Given the description of an element on the screen output the (x, y) to click on. 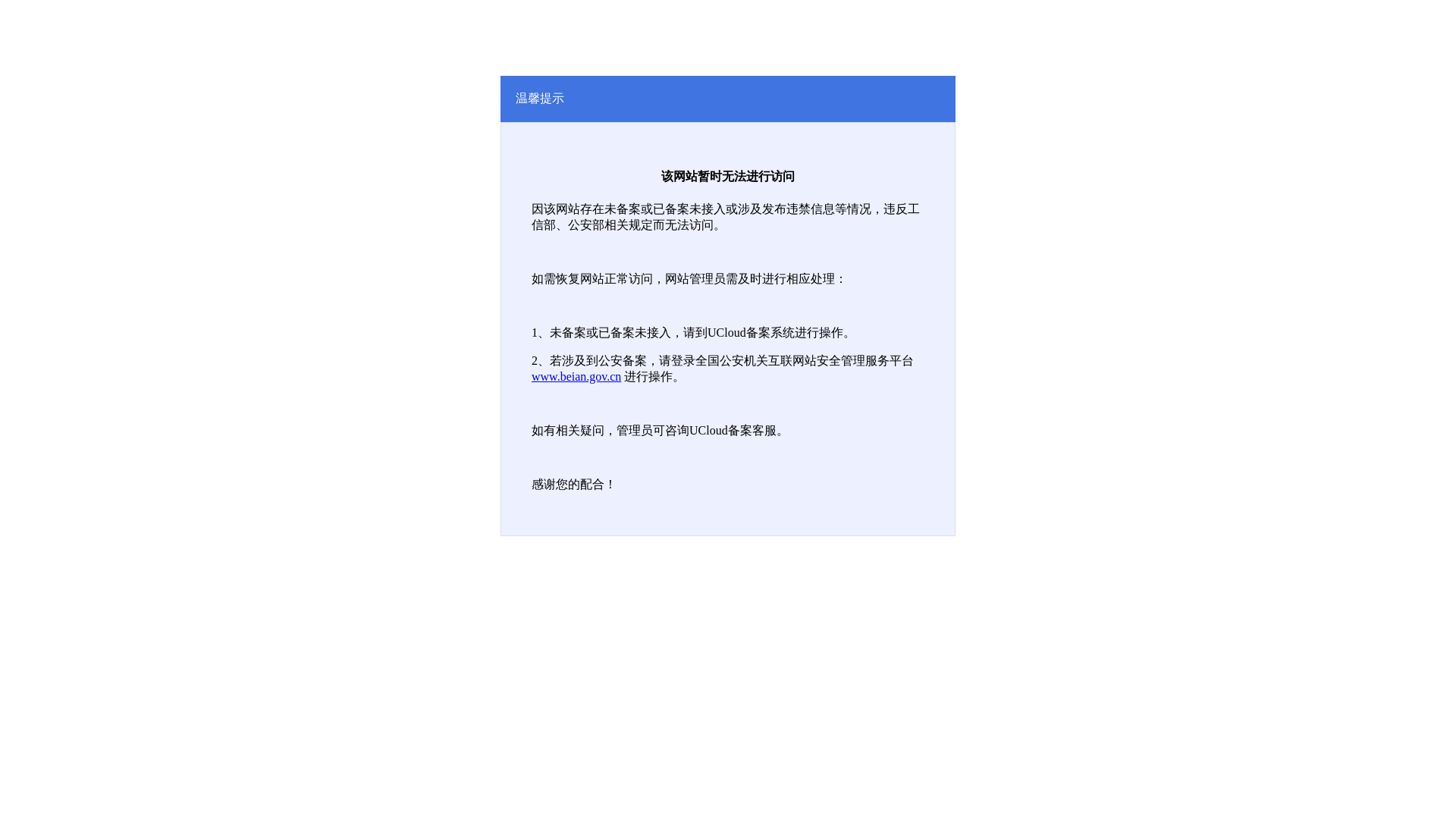
www.beian.gov.cn (576, 376)
